Given the description of an element on the screen output the (x, y) to click on. 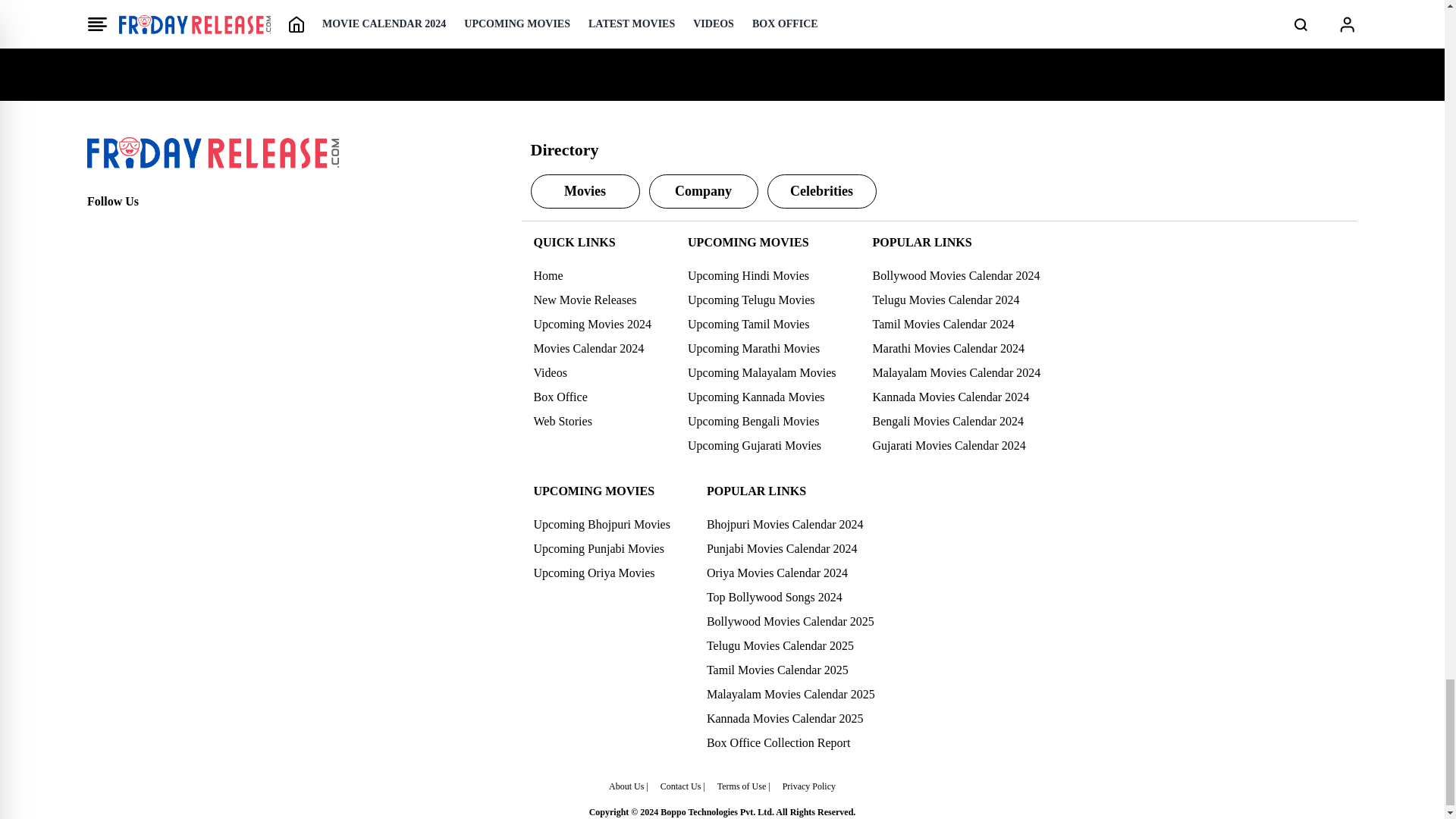
Twitter Page (132, 228)
Instagram Page (165, 228)
Youtube Page (199, 228)
Facebook Page (99, 228)
